Given the description of an element on the screen output the (x, y) to click on. 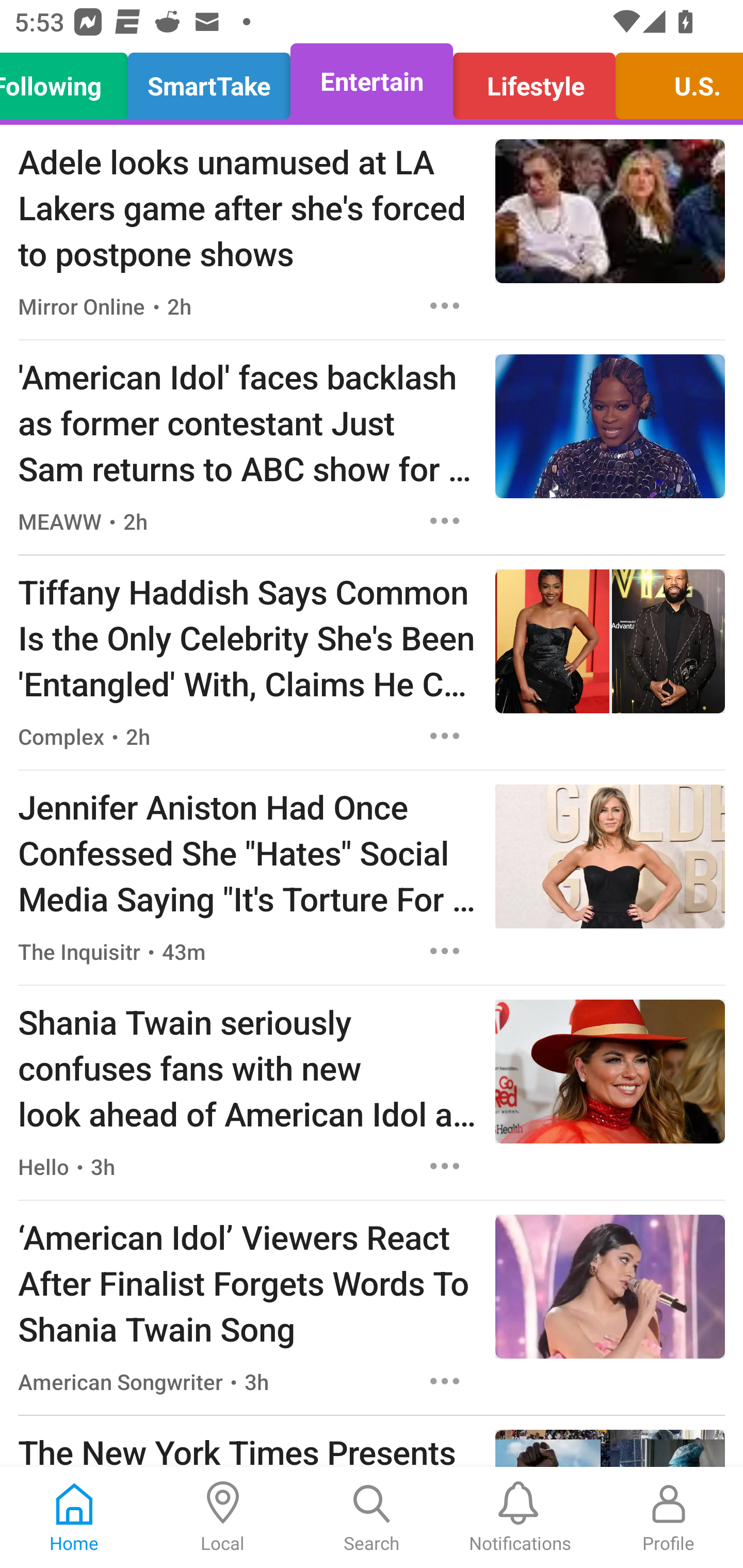
Following (69, 81)
SmartTake (209, 81)
Entertain (371, 81)
Lifestyle (534, 81)
U.S. (673, 81)
Options (444, 305)
Options (444, 520)
Options (444, 736)
Options (444, 950)
Options (444, 1166)
Options (444, 1381)
Local (222, 1517)
Search (371, 1517)
Notifications (519, 1517)
Profile (668, 1517)
